Given the description of an element on the screen output the (x, y) to click on. 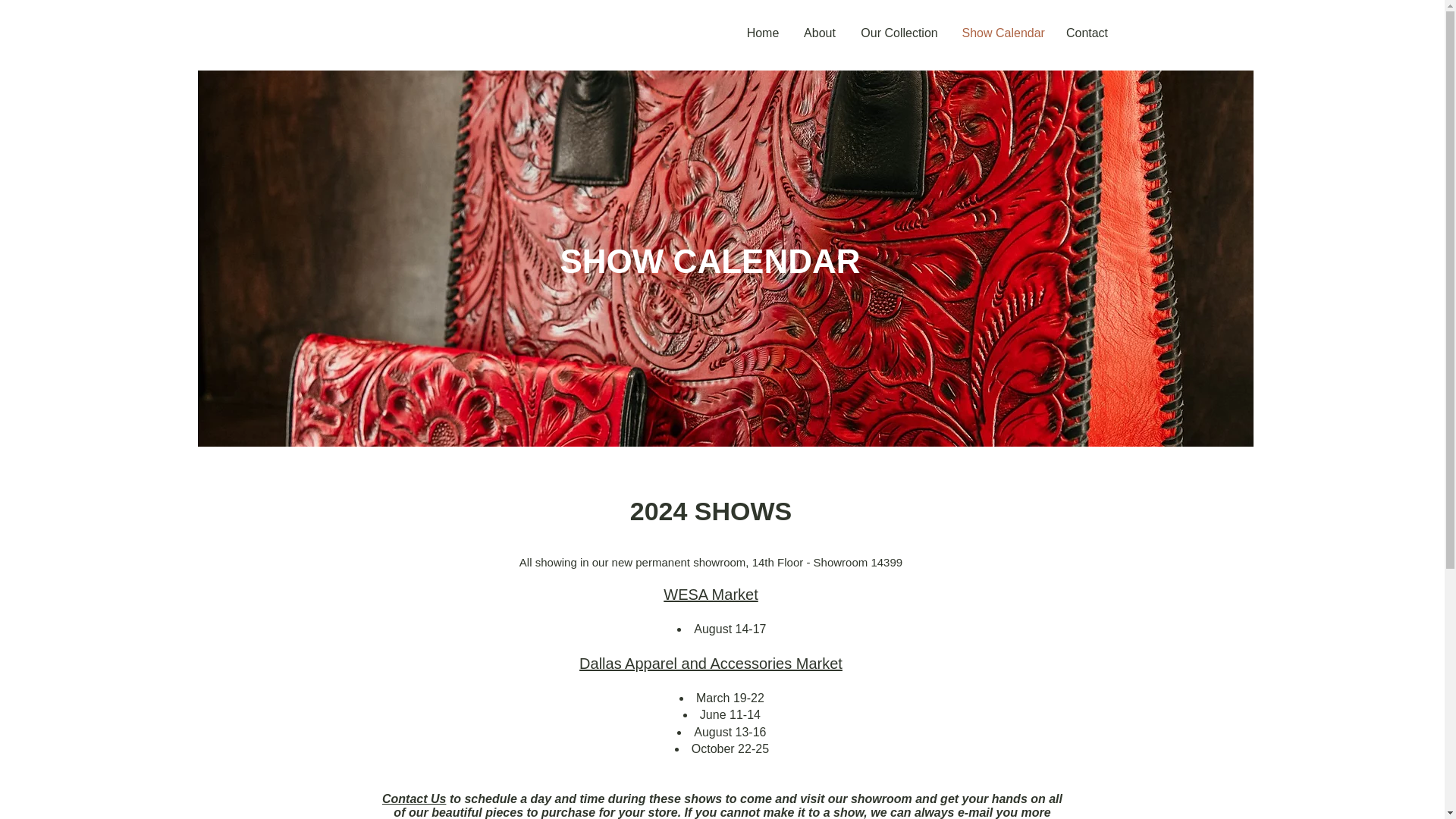
Contact (1086, 33)
Dallas Apparel and Accessories Market (711, 663)
Home (761, 33)
Contact Us (413, 798)
Show Calendar (1002, 33)
WESA Market (710, 594)
About (820, 33)
